Given the description of an element on the screen output the (x, y) to click on. 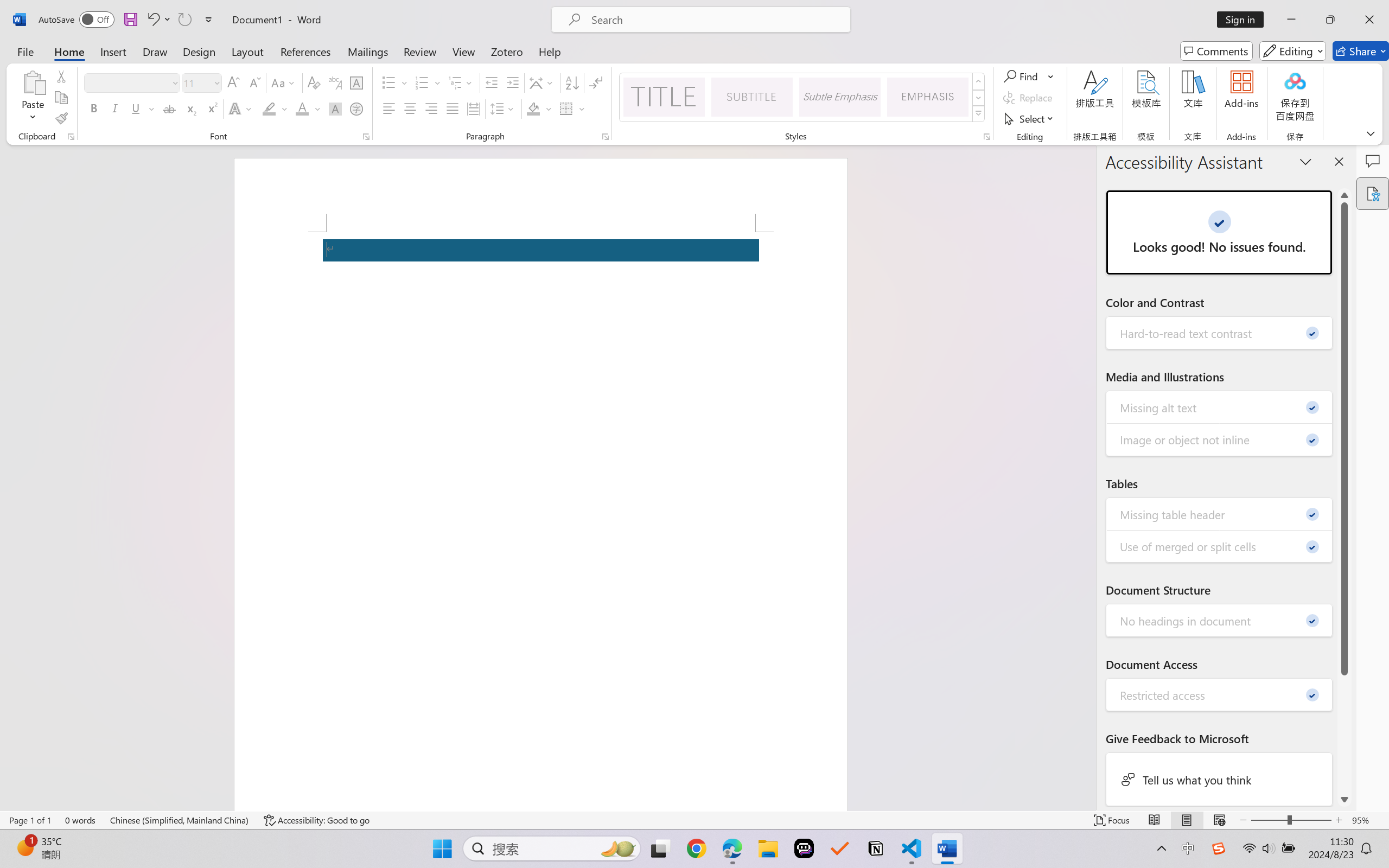
Tell us what you think - 1 (1219, 779)
Line up (1344, 195)
